Given the description of an element on the screen output the (x, y) to click on. 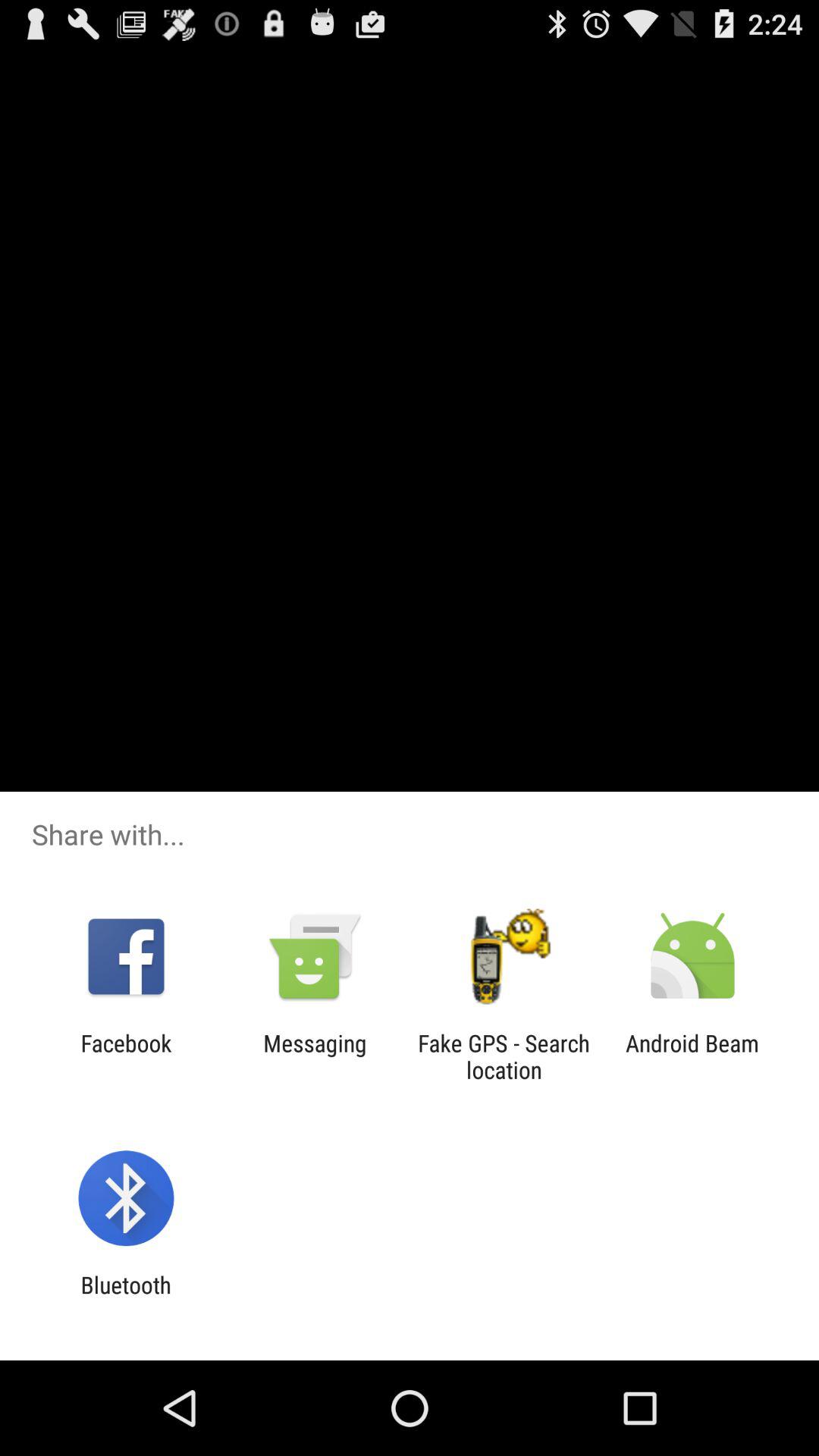
tap icon next to messaging icon (125, 1056)
